Given the description of an element on the screen output the (x, y) to click on. 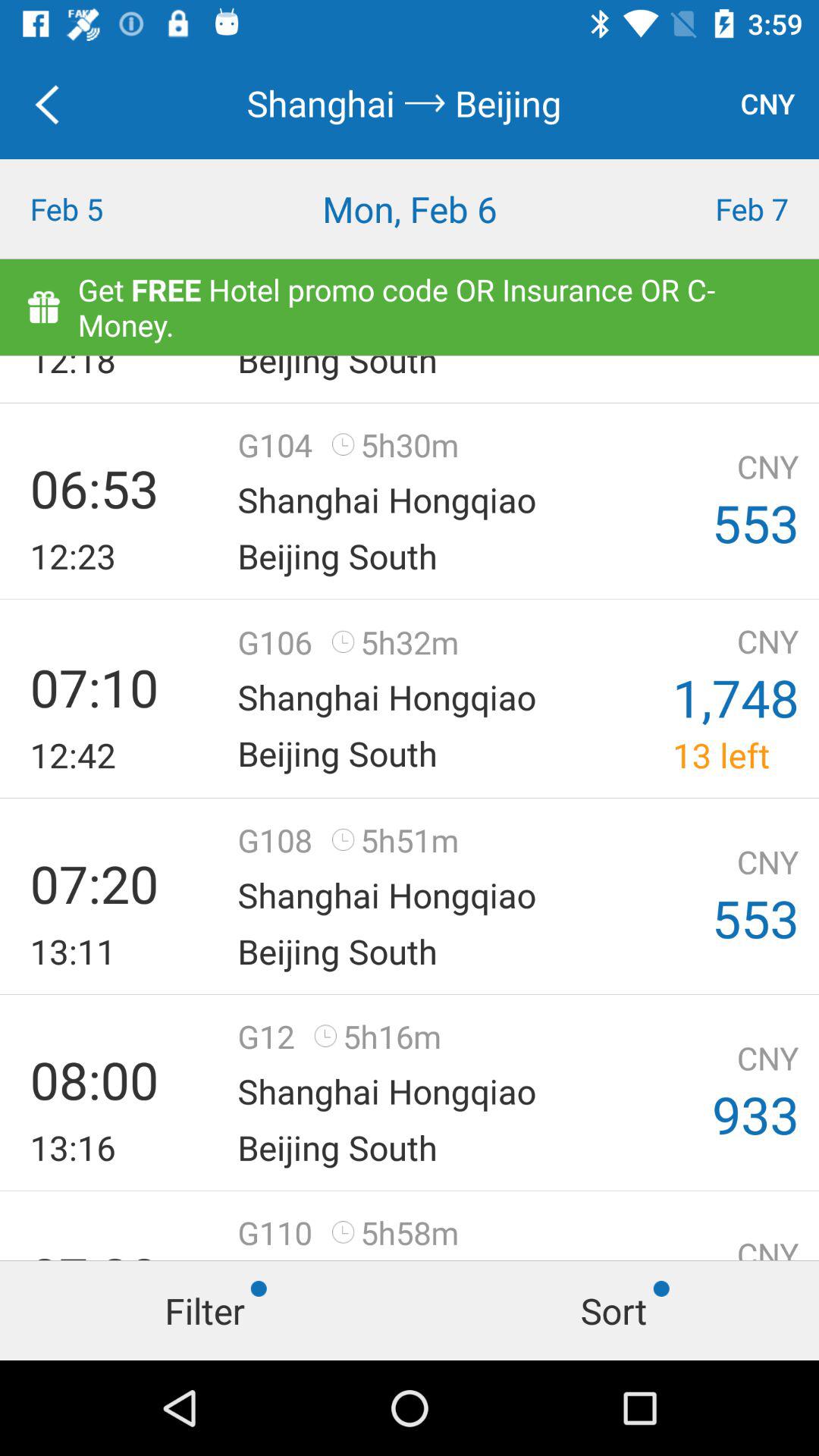
tap the item next to mon, feb 6 icon (102, 208)
